Given the description of an element on the screen output the (x, y) to click on. 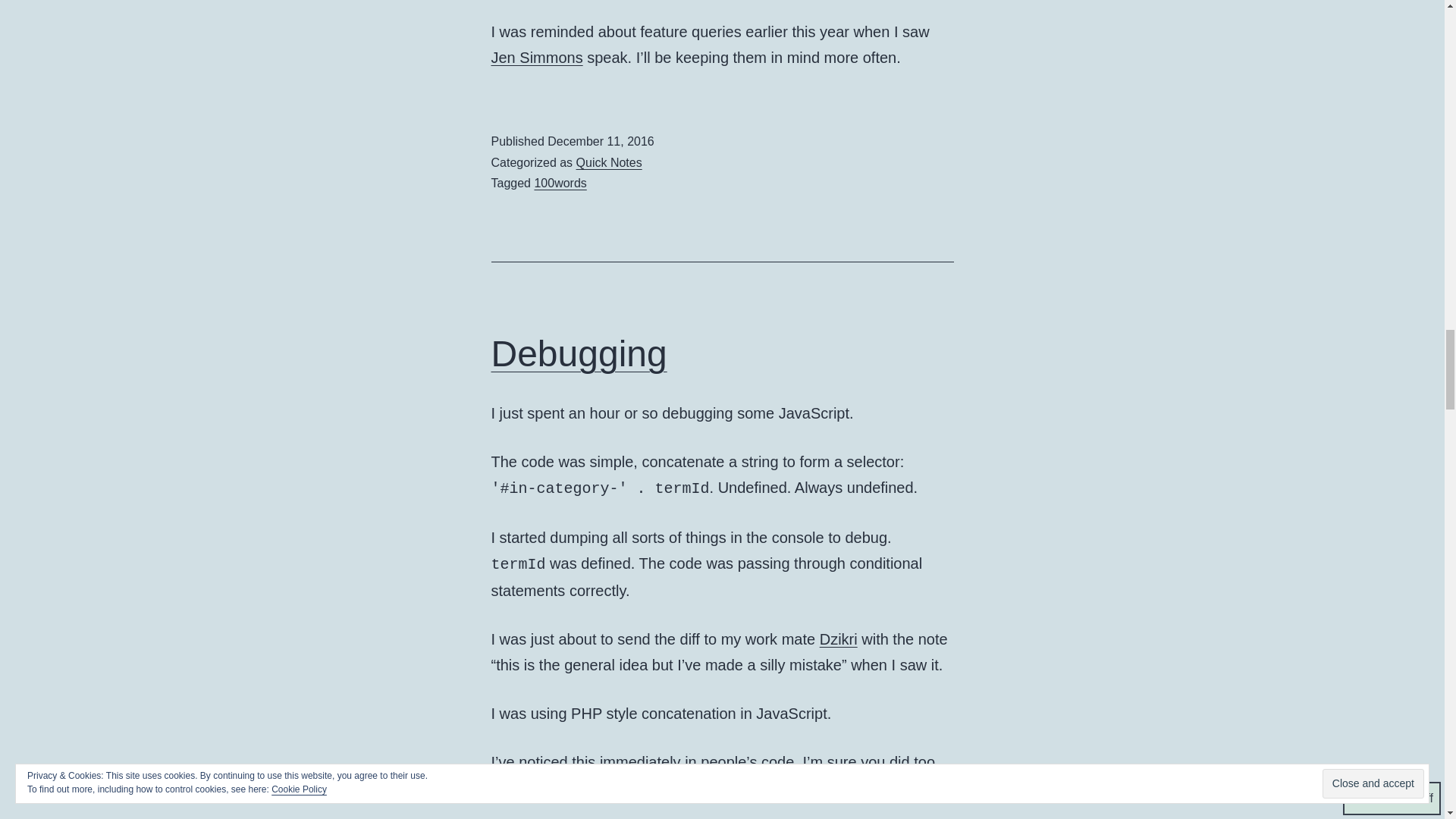
Jen Simmons (537, 57)
100words (560, 182)
Debugging (579, 353)
Dzikri (838, 638)
Quick Notes (609, 162)
